Given the description of an element on the screen output the (x, y) to click on. 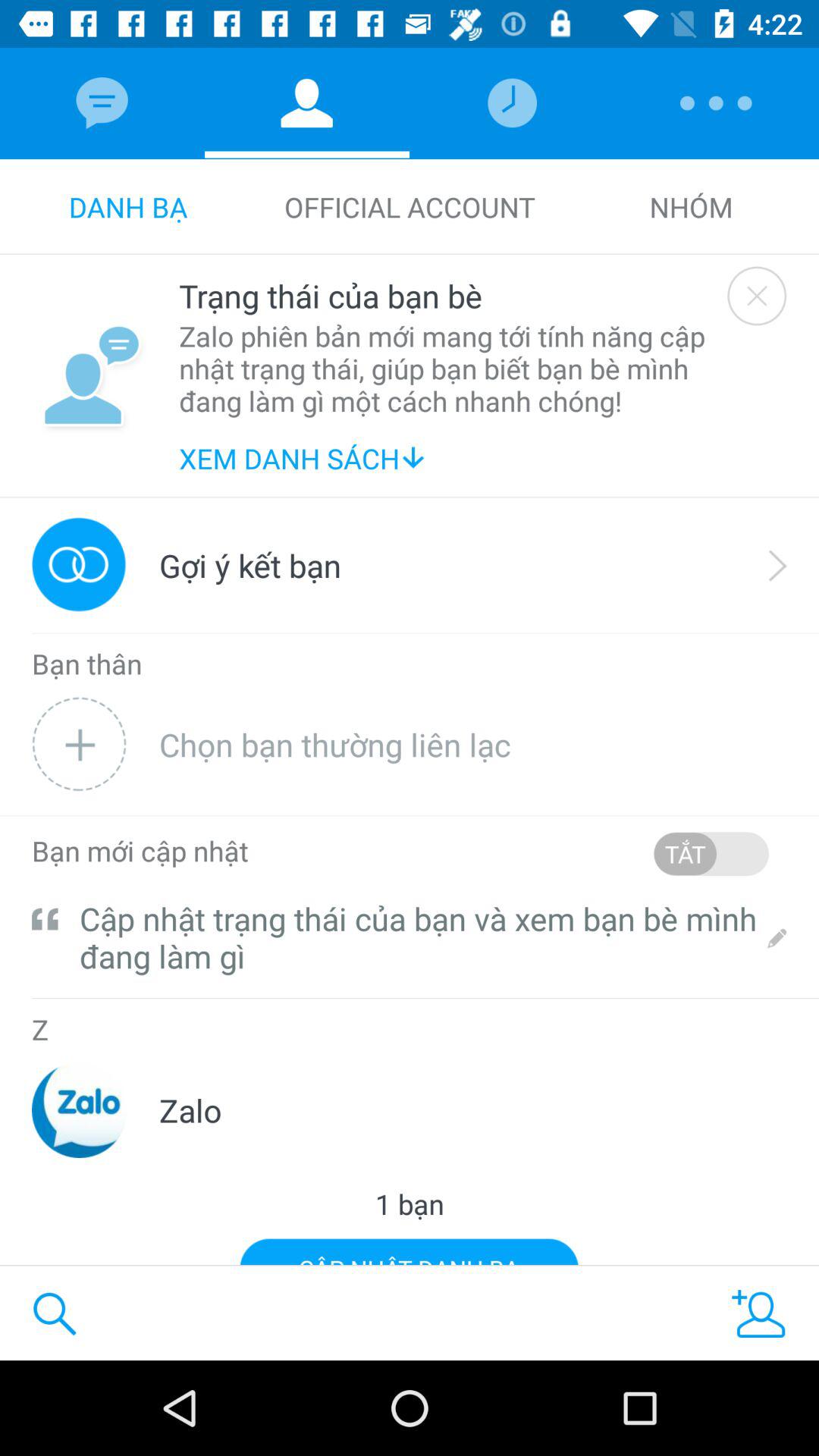
turn on the icon next to the official account icon (691, 206)
